Given the description of an element on the screen output the (x, y) to click on. 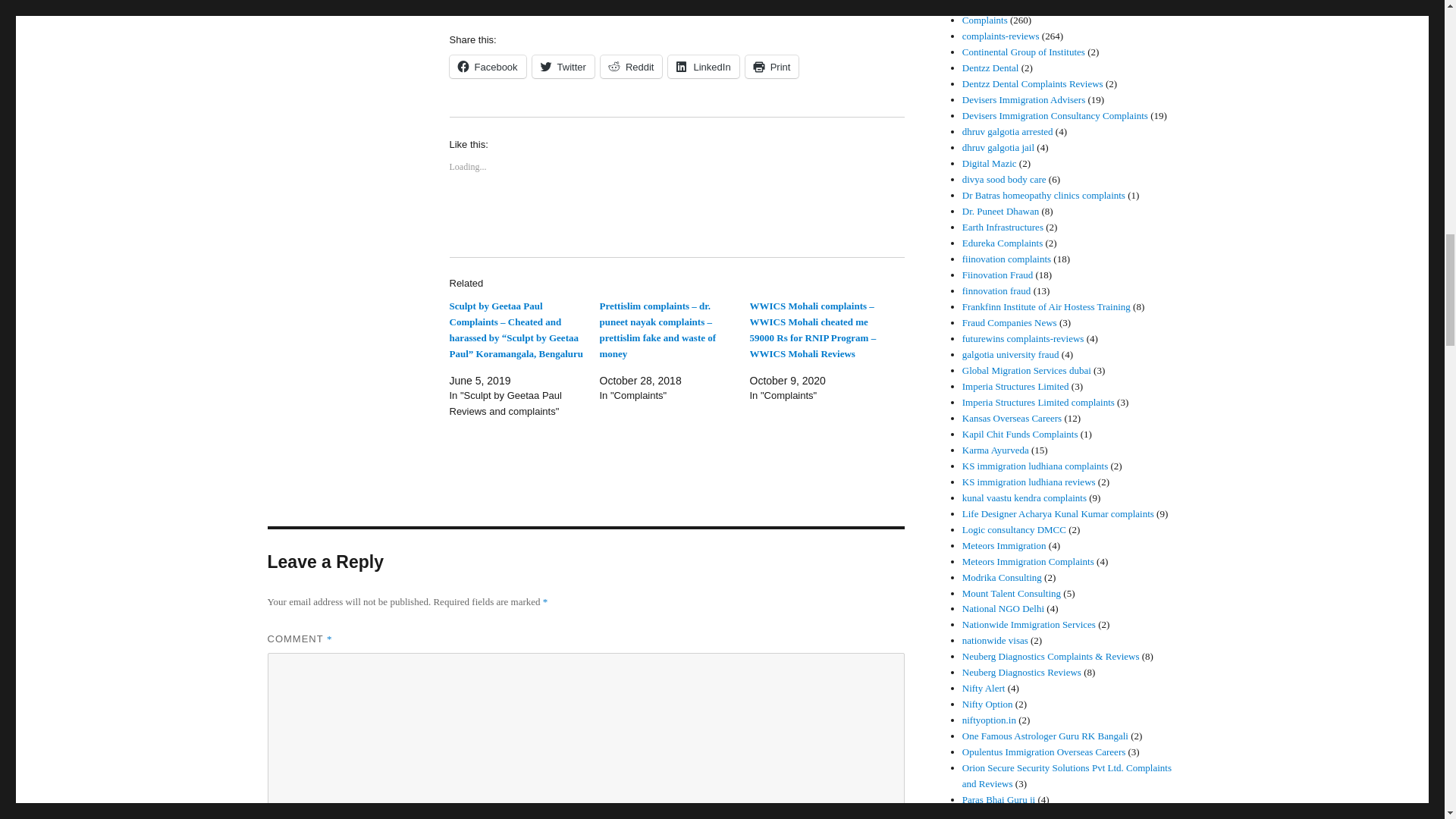
Click to share on LinkedIn (703, 66)
LinkedIn (703, 66)
Click to share on Reddit (630, 66)
Reddit (630, 66)
Facebook (486, 66)
Click to share on Facebook (486, 66)
Click to share on Twitter (563, 66)
Twitter (563, 66)
Print (772, 66)
Like or Reblog (676, 222)
